Given the description of an element on the screen output the (x, y) to click on. 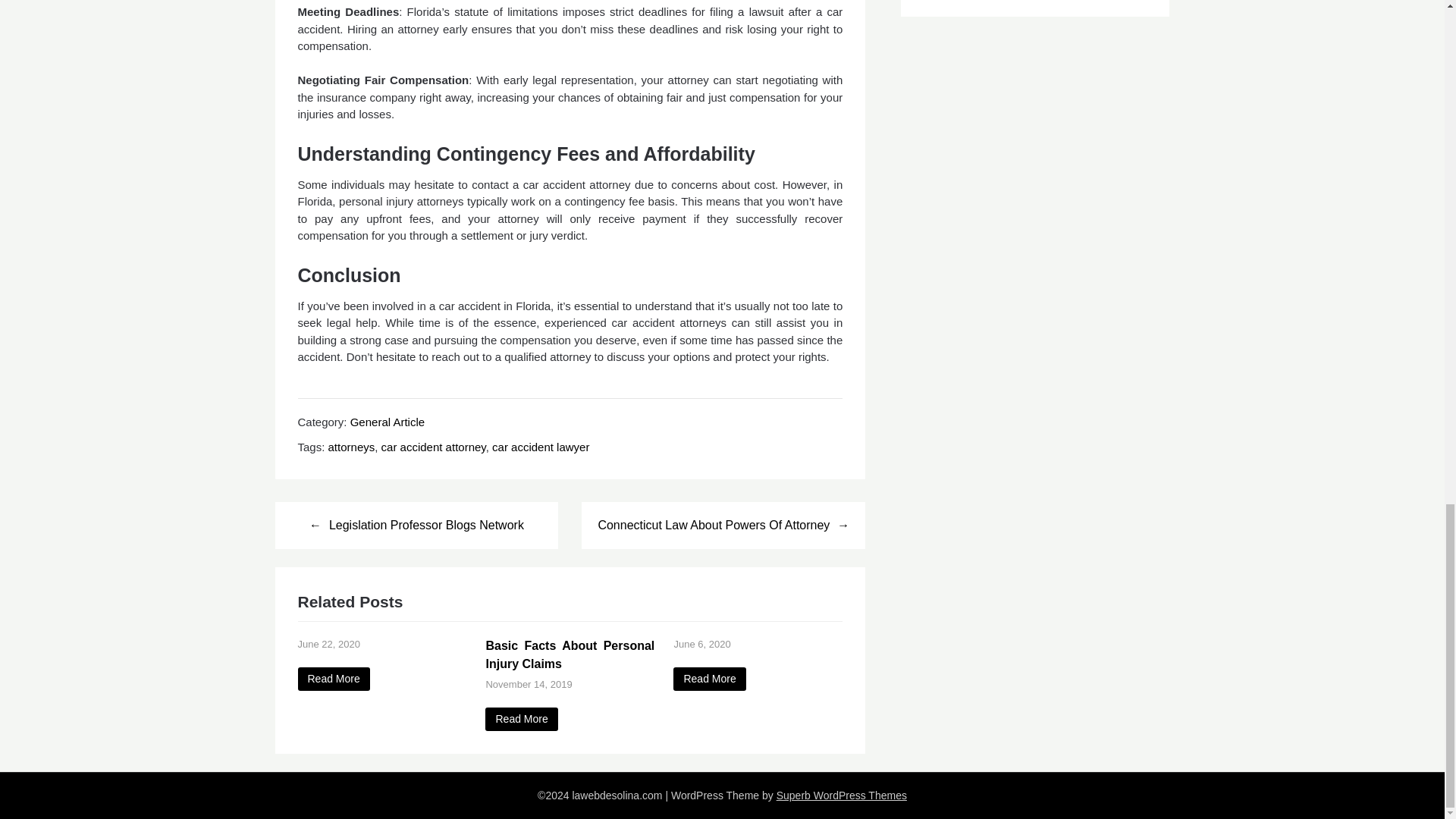
Legislation Professor Blogs Network (416, 525)
General Article (387, 421)
attorneys (352, 446)
car accident attorney (433, 446)
Basic Facts About Personal Injury Claims (520, 719)
car accident lawyer (540, 446)
